Given the description of an element on the screen output the (x, y) to click on. 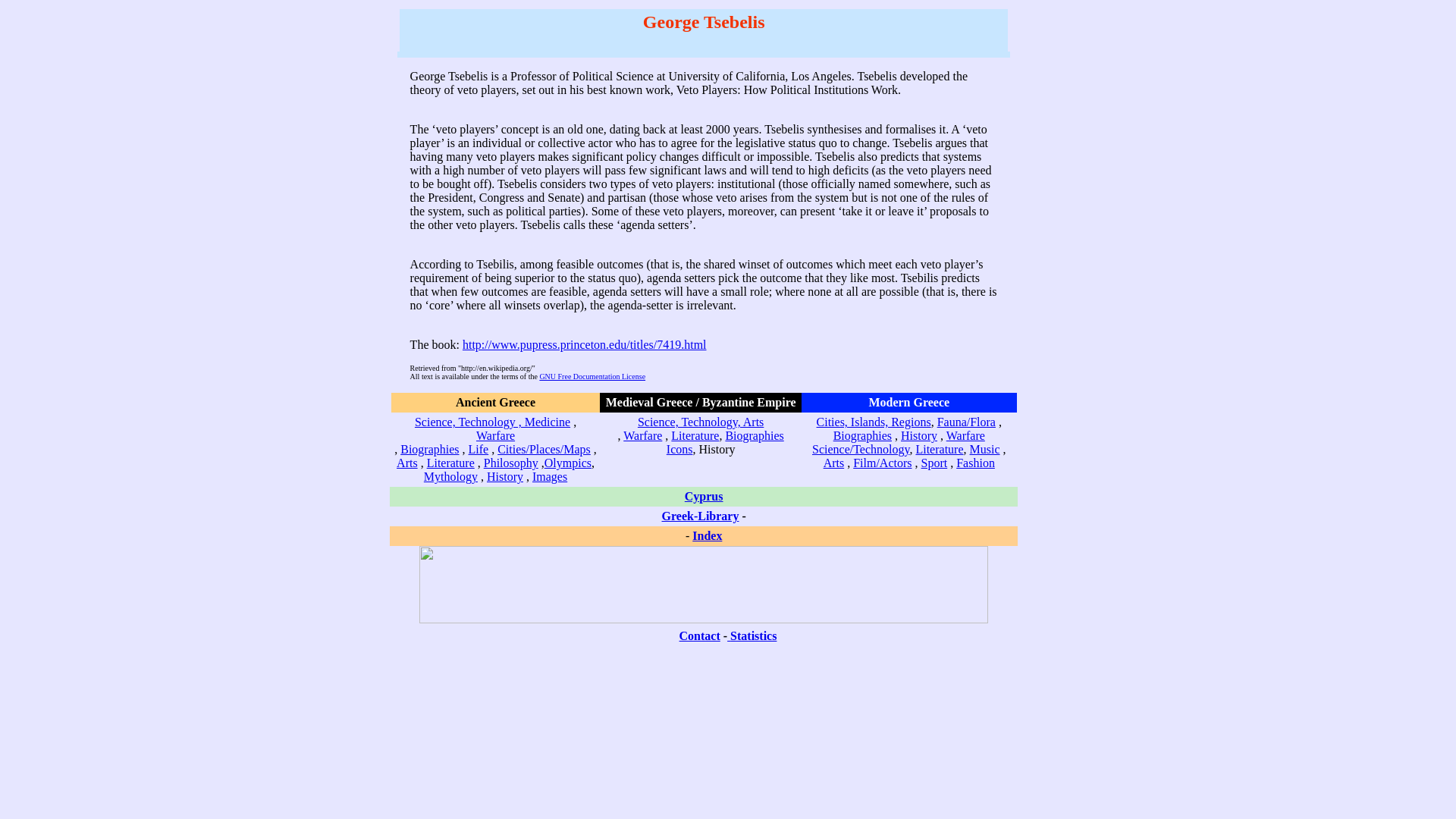
Literature (938, 449)
Literature (450, 462)
Cyprus (703, 495)
Literature (695, 435)
Music (984, 449)
Mythology (450, 476)
Philosophy (510, 462)
Biographies (429, 449)
History (919, 435)
Warfare (642, 435)
Warfare (965, 435)
Science, Technology, Arts (699, 421)
Images (549, 476)
Sport (934, 462)
Index (707, 535)
